Given the description of an element on the screen output the (x, y) to click on. 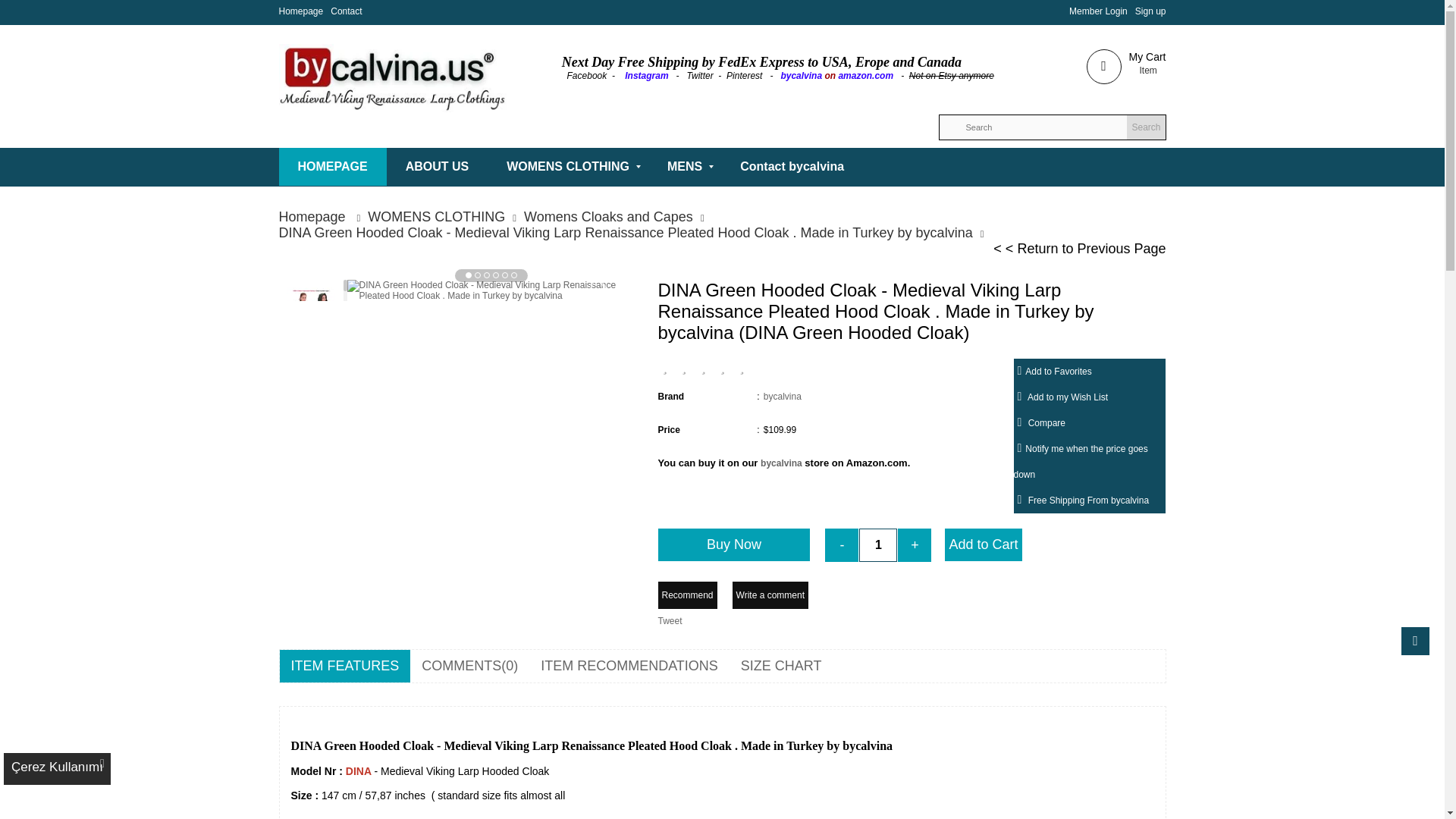
ABOUT US (437, 166)
bycalvina on amazon.com (836, 75)
Womens Cloaks and Capes (617, 217)
Homepage (301, 10)
Sign up (1150, 10)
WOMENS CLOTHING (567, 166)
WOMENS CLOTHING (446, 217)
MENS (683, 166)
ABOUT US (437, 166)
Buy Now (734, 544)
Add to Cart (983, 544)
HOMEPAGE (331, 166)
Member Login (1097, 10)
1 (877, 544)
Homepage (323, 217)
